Given the description of an element on the screen output the (x, y) to click on. 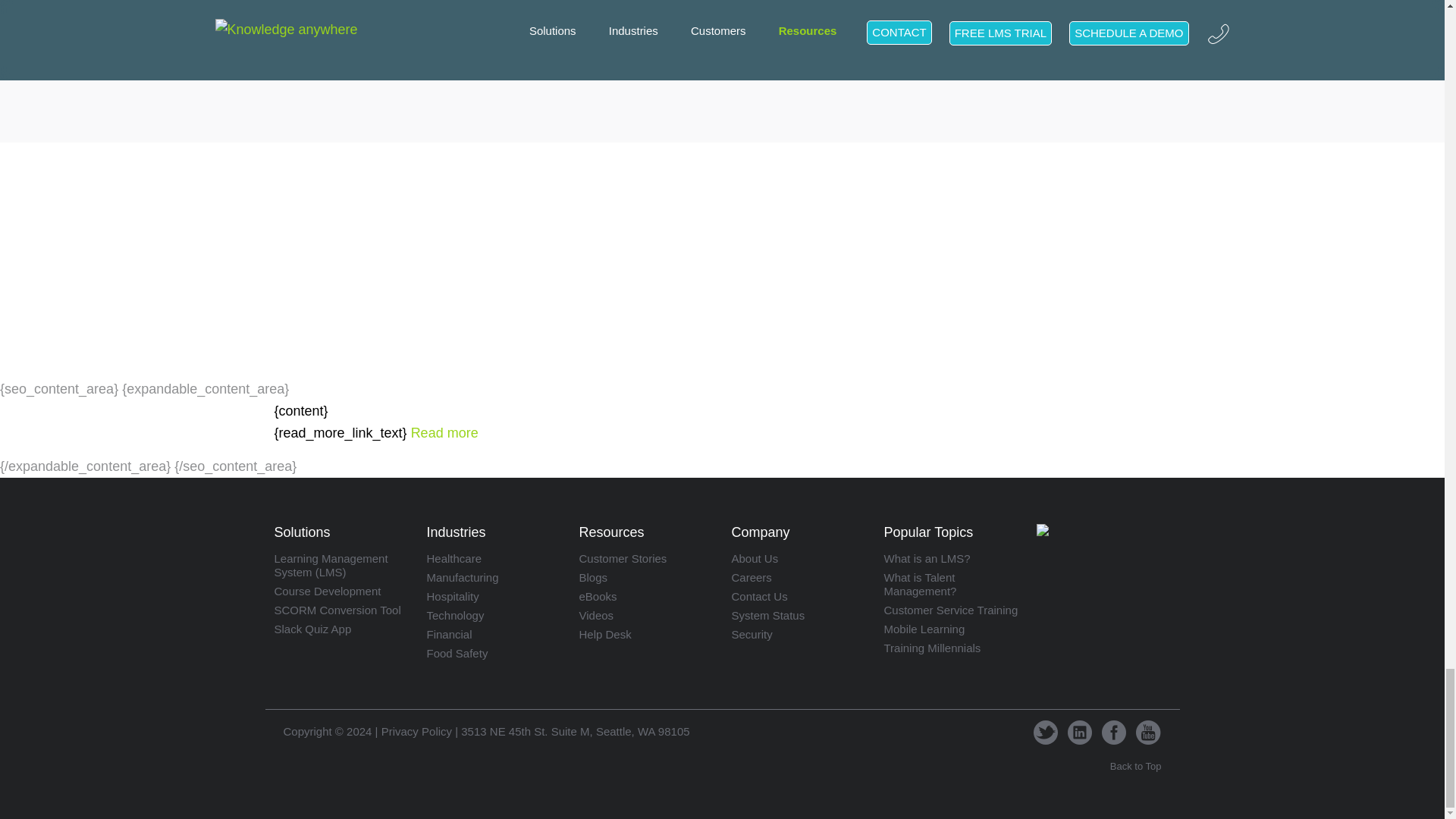
Get Directions (574, 730)
